Given the description of an element on the screen output the (x, y) to click on. 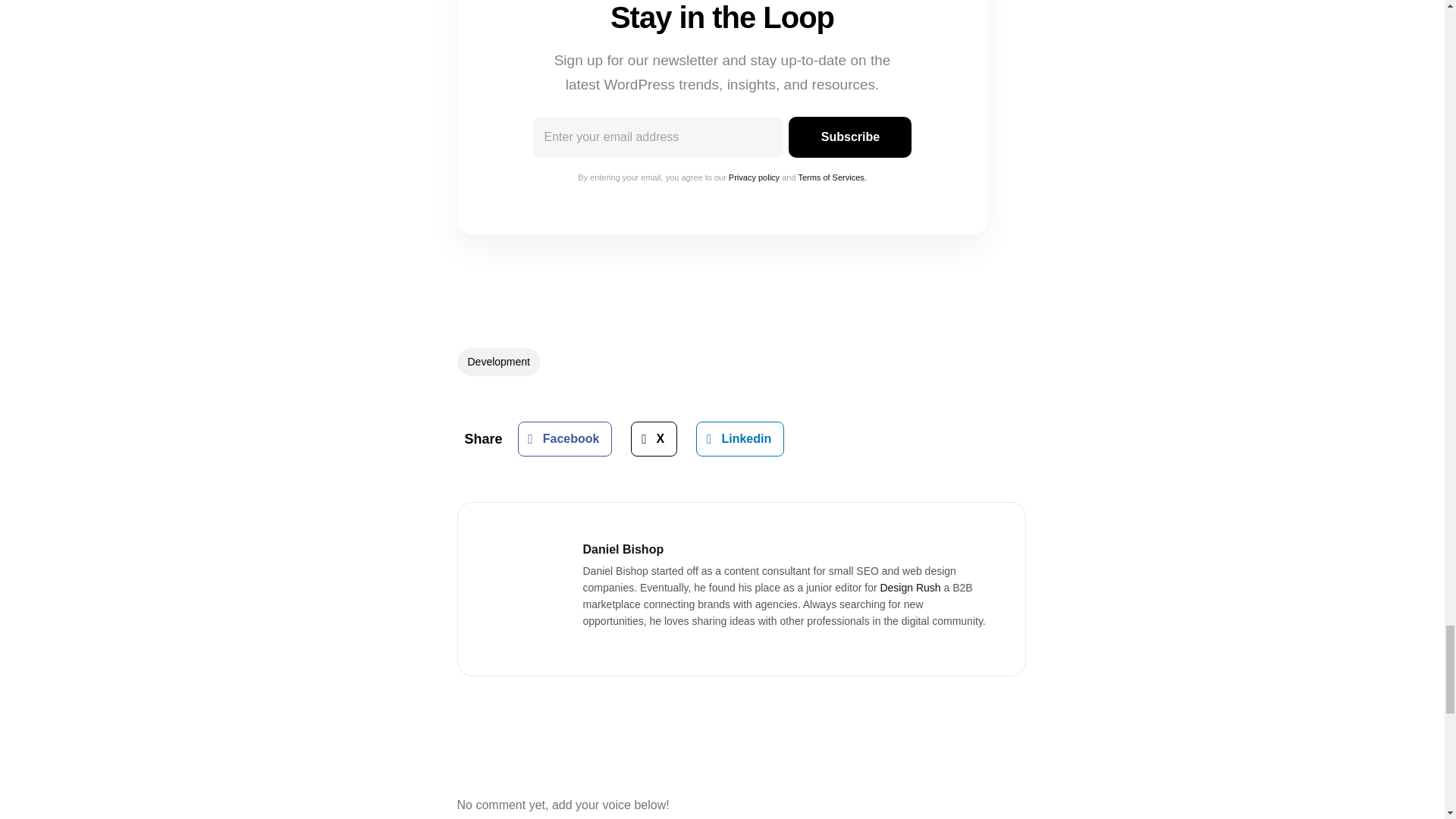
Terms of Services. (831, 176)
Subscribe (850, 137)
Design Rush (909, 587)
Privacy policy (753, 176)
Development (498, 361)
